Given the description of an element on the screen output the (x, y) to click on. 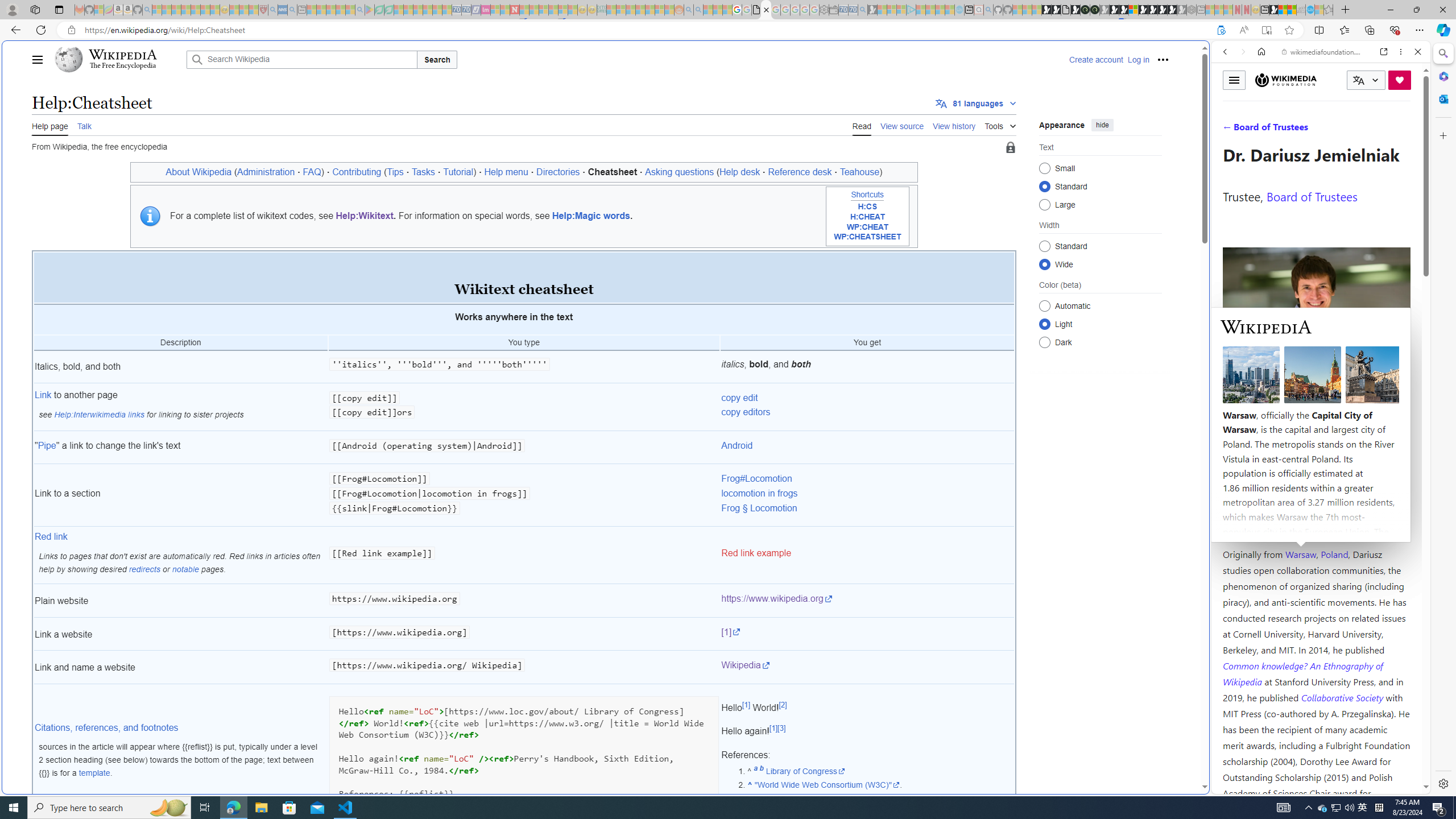
Personal tools (1162, 59)
Search Filter, Search Tools (1350, 129)
Log in (1137, 58)
utah sues federal government - Search - Sleeping (291, 9)
[[copy edit]] [[copy edit]]ors (523, 406)
Pipe (46, 445)
italics, bold, and both (866, 366)
H:CS (867, 207)
